Given the description of an element on the screen output the (x, y) to click on. 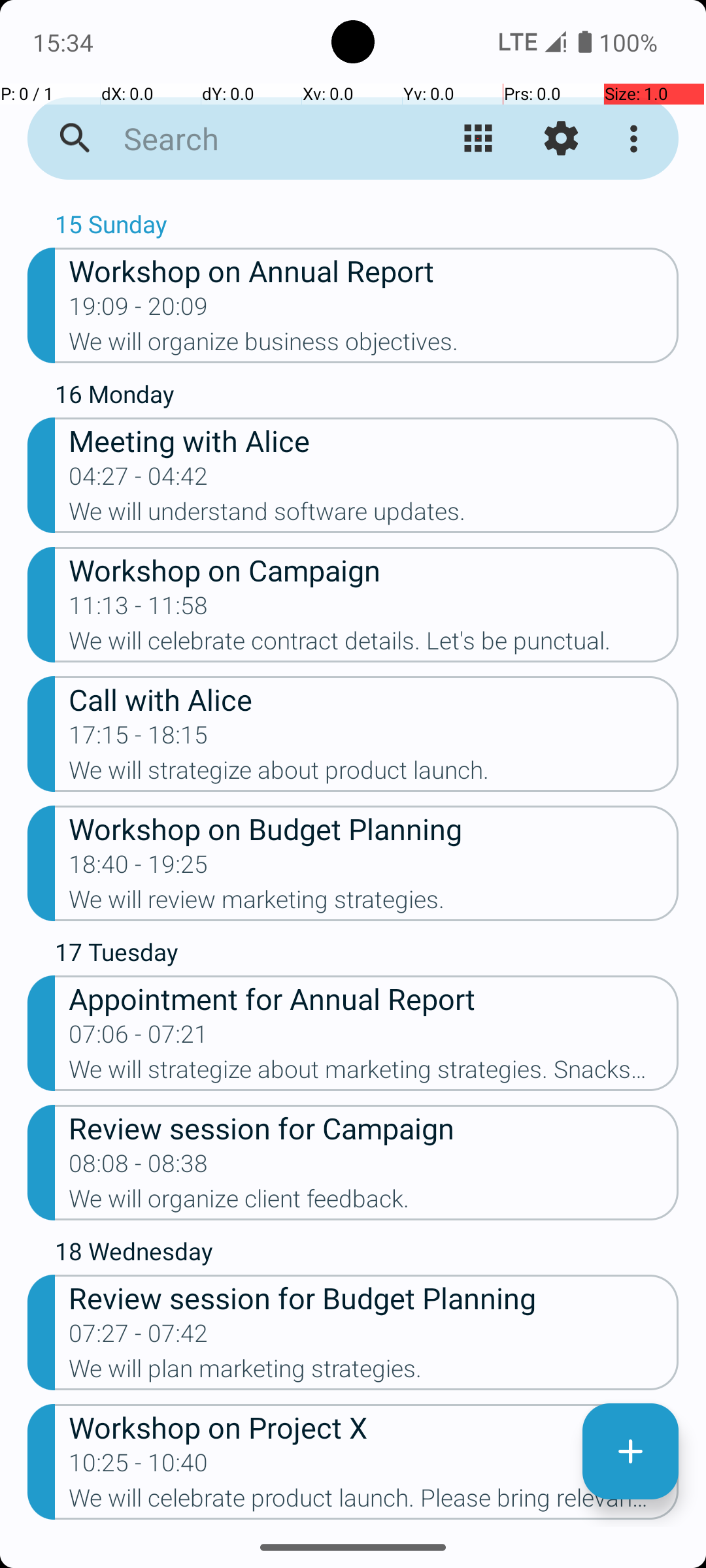
19:09 - 20:09 Element type: android.widget.TextView (137, 309)
We will organize business objectives. Element type: android.widget.TextView (373, 345)
04:27 - 04:42 Element type: android.widget.TextView (137, 479)
We will understand software updates. Element type: android.widget.TextView (373, 515)
11:13 - 11:58 Element type: android.widget.TextView (137, 609)
We will celebrate contract details. Let's be punctual. Element type: android.widget.TextView (373, 644)
17:15 - 18:15 Element type: android.widget.TextView (137, 738)
We will strategize about product launch. Element type: android.widget.TextView (373, 773)
18:40 - 19:25 Element type: android.widget.TextView (137, 867)
We will review marketing strategies. Element type: android.widget.TextView (373, 903)
07:06 - 07:21 Element type: android.widget.TextView (137, 1037)
We will strategize about marketing strategies. Snacks will be provided. Element type: android.widget.TextView (373, 1073)
08:08 - 08:38 Element type: android.widget.TextView (137, 1167)
We will organize client feedback. Element type: android.widget.TextView (373, 1202)
07:27 - 07:42 Element type: android.widget.TextView (137, 1337)
We will plan marketing strategies. Element type: android.widget.TextView (373, 1372)
10:25 - 10:40 Element type: android.widget.TextView (137, 1466)
We will celebrate product launch. Please bring relevant documents. Element type: android.widget.TextView (373, 1501)
